Given the description of an element on the screen output the (x, y) to click on. 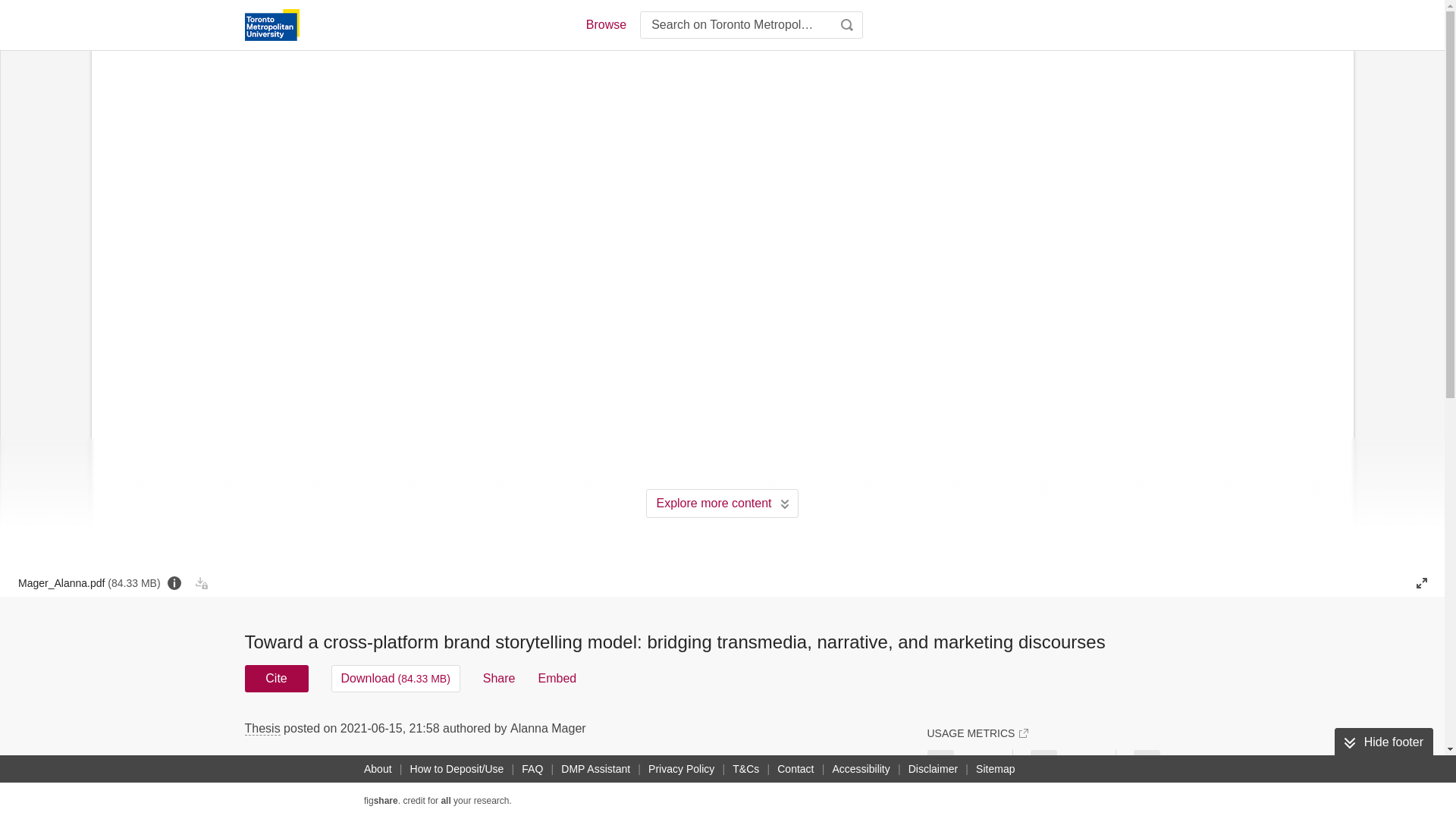
Privacy Policy (681, 769)
FAQ (531, 769)
Share (499, 678)
About (377, 769)
Hide footer (1383, 742)
DMP Assistant (595, 769)
Embed (557, 678)
Browse (605, 24)
Explore more content (721, 502)
